Given the description of an element on the screen output the (x, y) to click on. 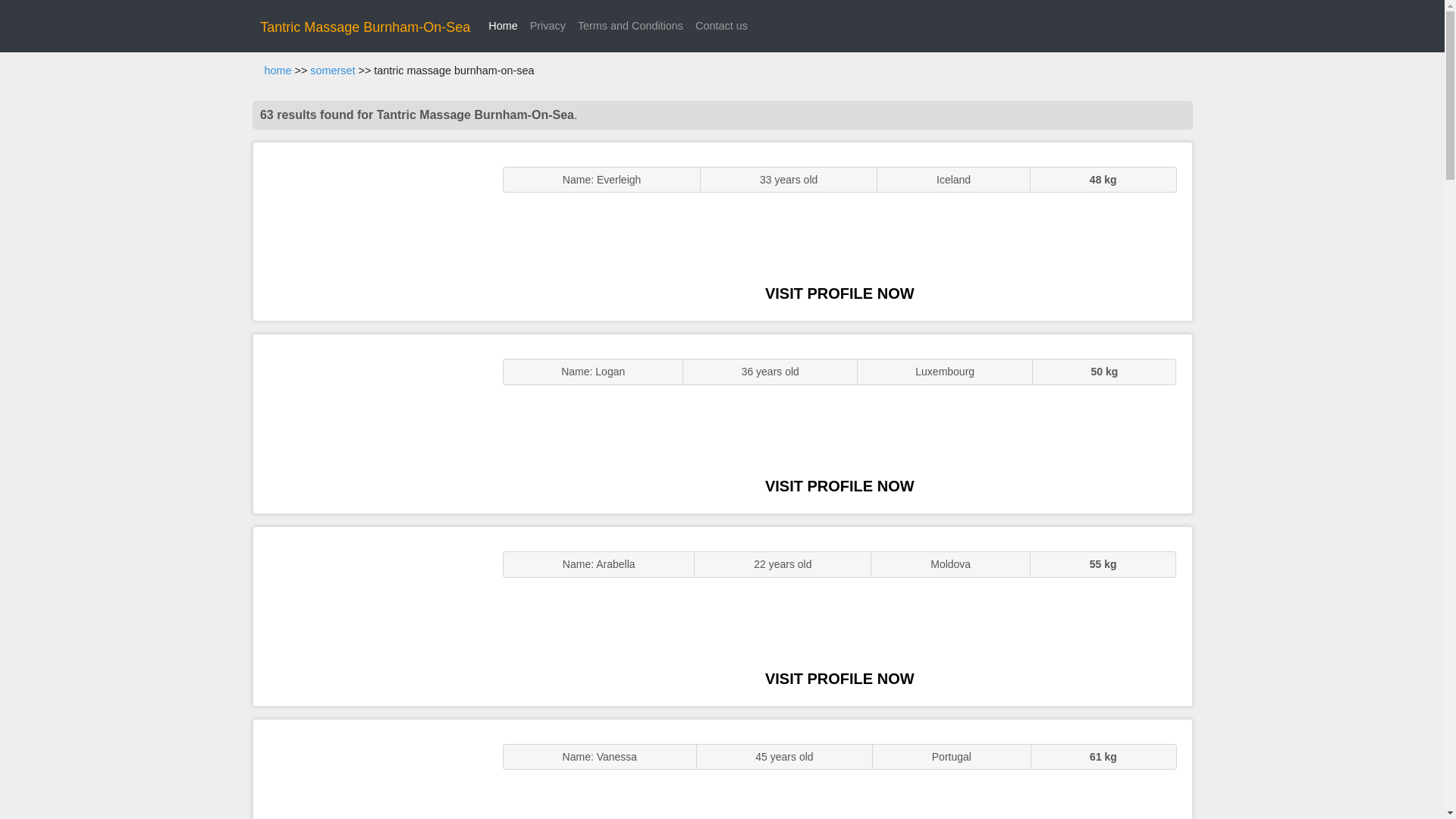
Sluts (370, 769)
Tantric Massage Burnham-On-Sea (365, 27)
VISIT PROFILE NOW (839, 485)
Sexy (370, 616)
Contact us (721, 25)
somerset (332, 70)
Privacy (548, 25)
GFE (370, 423)
VISIT PROFILE NOW (839, 678)
 ENGLISH STUNNER (370, 231)
